Given the description of an element on the screen output the (x, y) to click on. 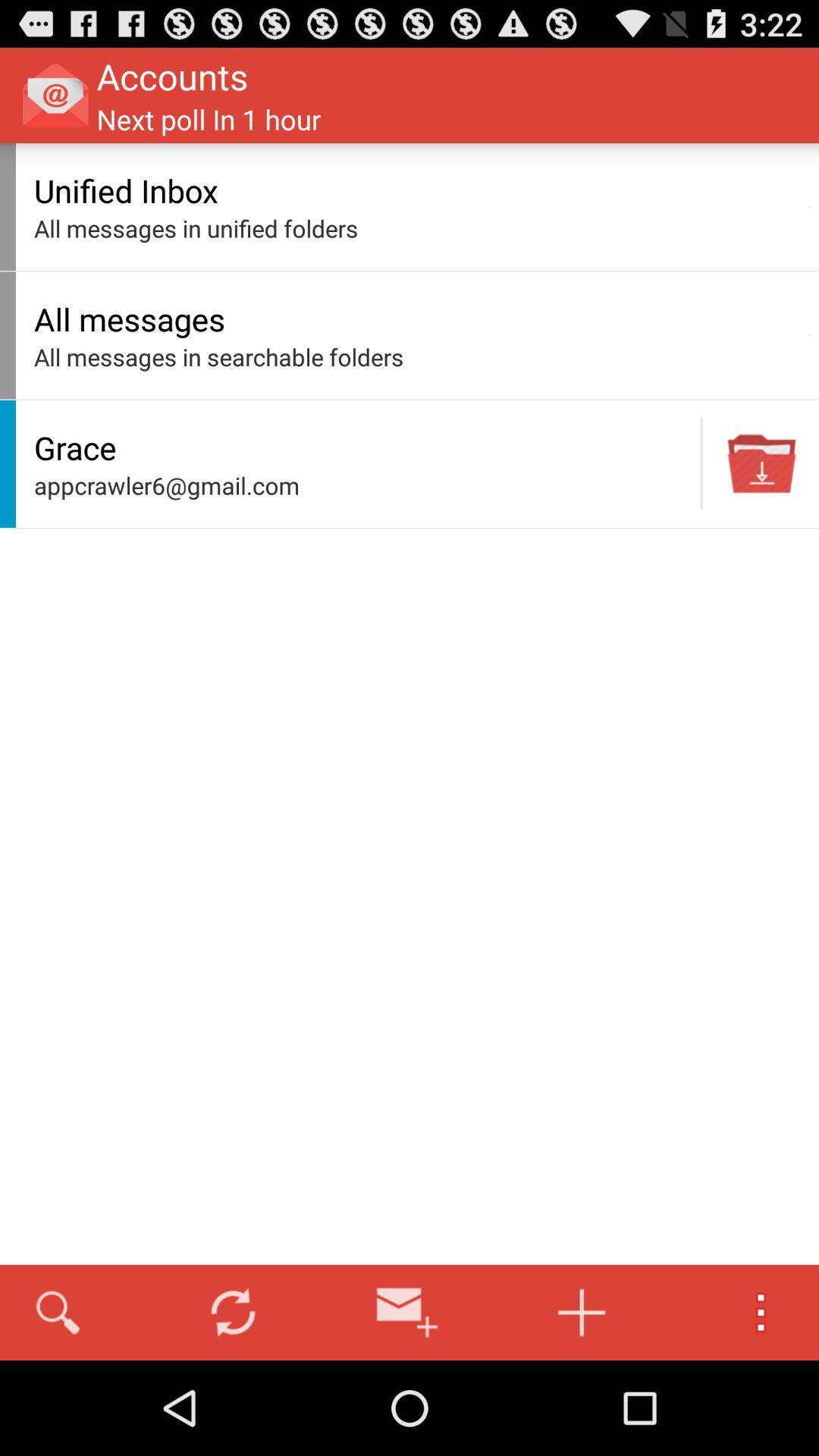
choose icon above appcrawler6@gmail.com icon (363, 447)
